Given the description of an element on the screen output the (x, y) to click on. 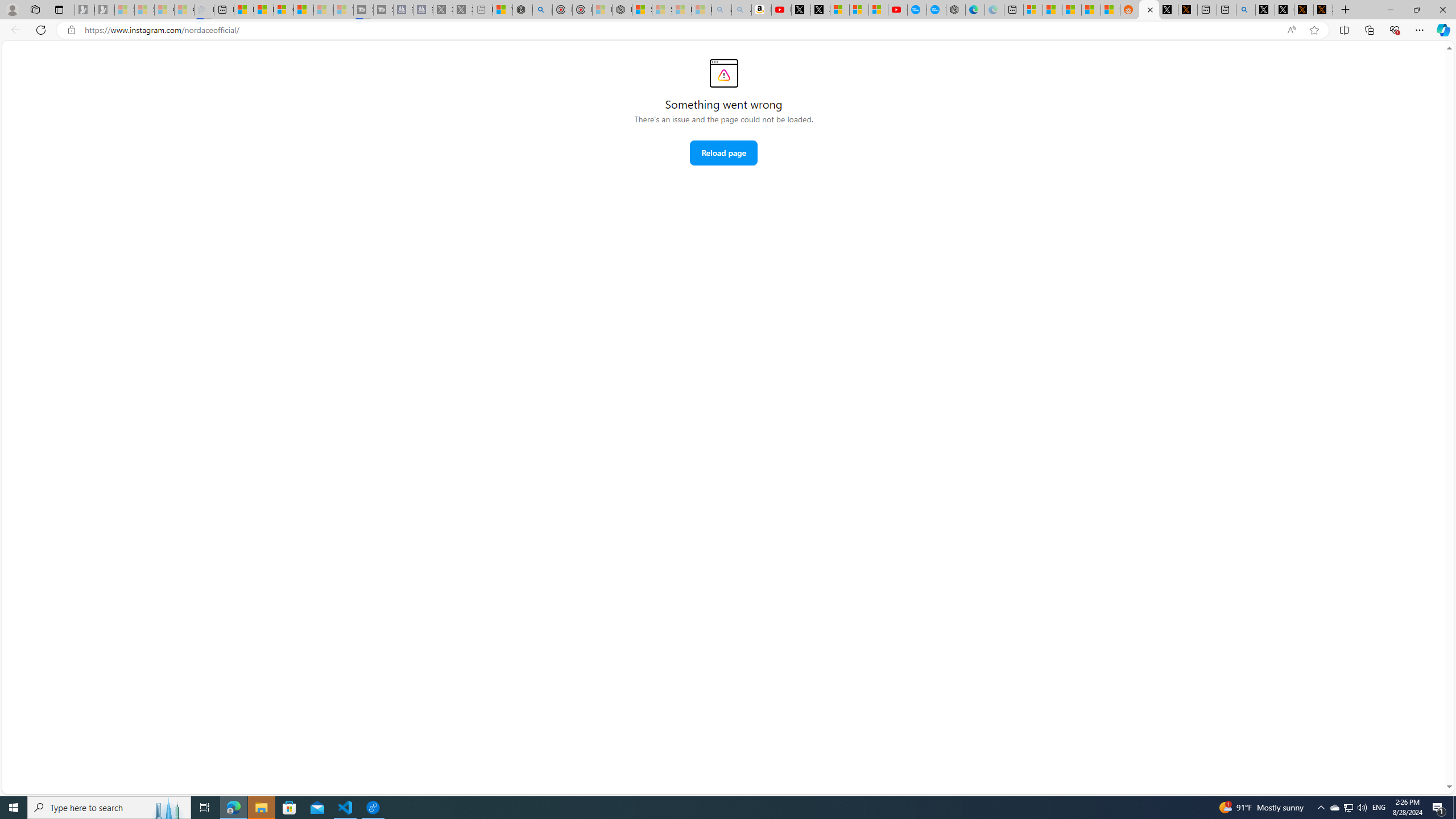
Day 1: Arriving in Yemen (surreal to be here) - YouTube (781, 9)
Nordace - Nordace Siena Is Not An Ordinary Backpack (622, 9)
Gloom - YouTube (897, 9)
Profile / X (1264, 9)
